Given the description of an element on the screen output the (x, y) to click on. 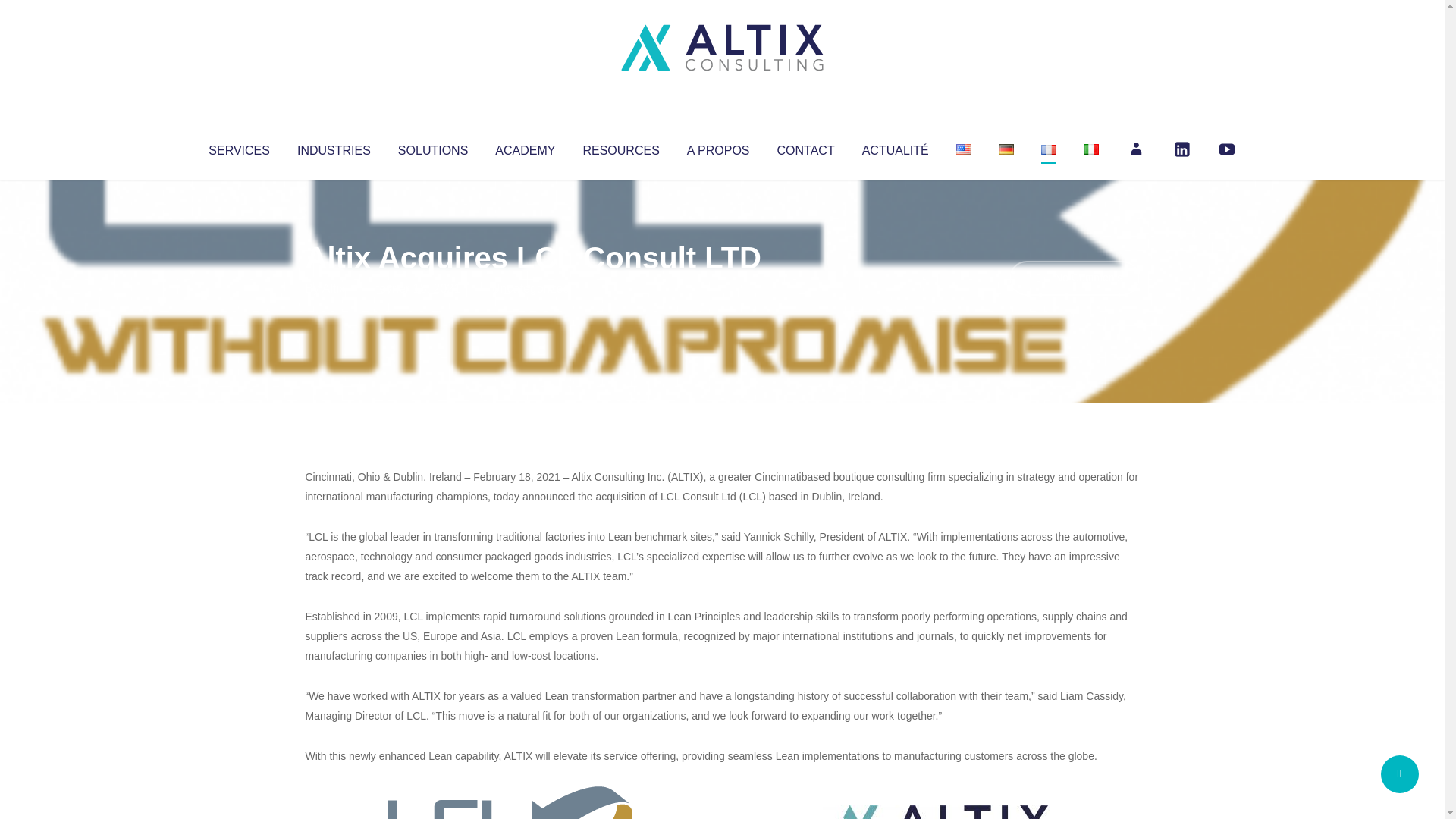
INDUSTRIES (334, 146)
SOLUTIONS (432, 146)
ACADEMY (524, 146)
SERVICES (238, 146)
No Comments (1073, 278)
Uncategorized (530, 287)
A PROPOS (718, 146)
RESOURCES (620, 146)
Articles par Altix (333, 287)
Altix (333, 287)
